Given the description of an element on the screen output the (x, y) to click on. 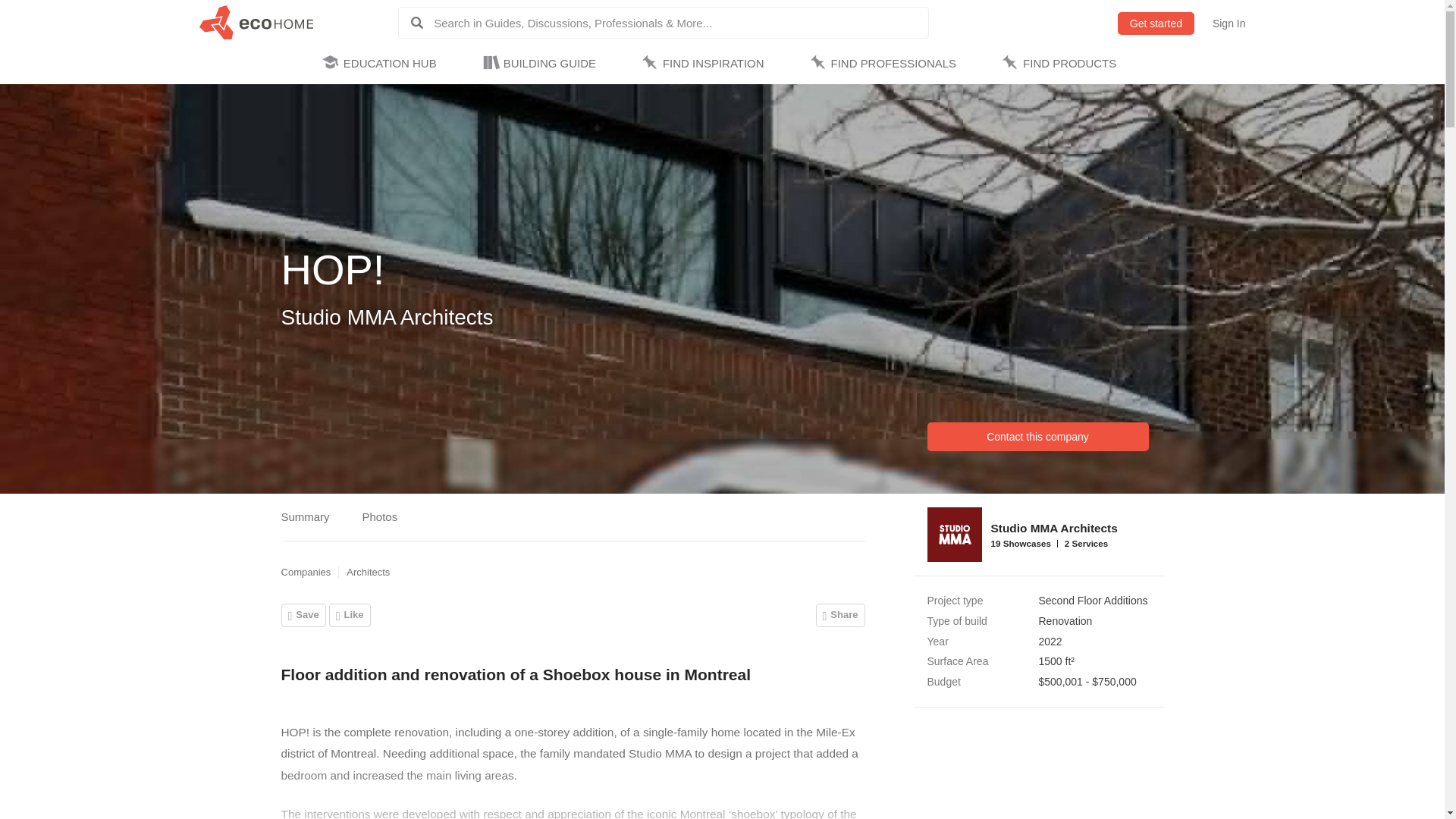
BUILDING GUIDE (542, 63)
EDUCATION HUB (382, 63)
Get started (1155, 23)
Sign In (1229, 23)
